Given the description of an element on the screen output the (x, y) to click on. 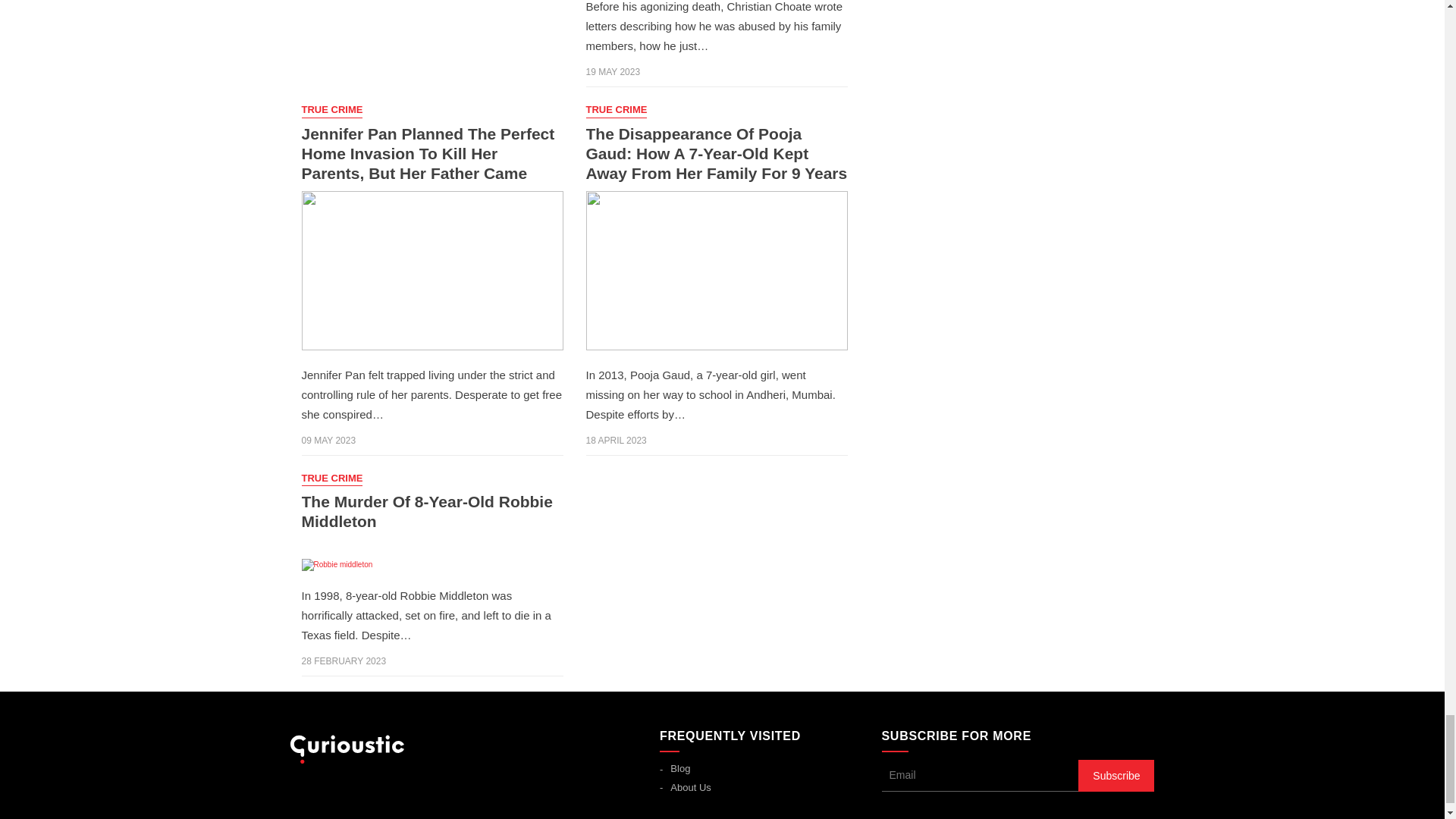
Subscribe (1116, 775)
